Given the description of an element on the screen output the (x, y) to click on. 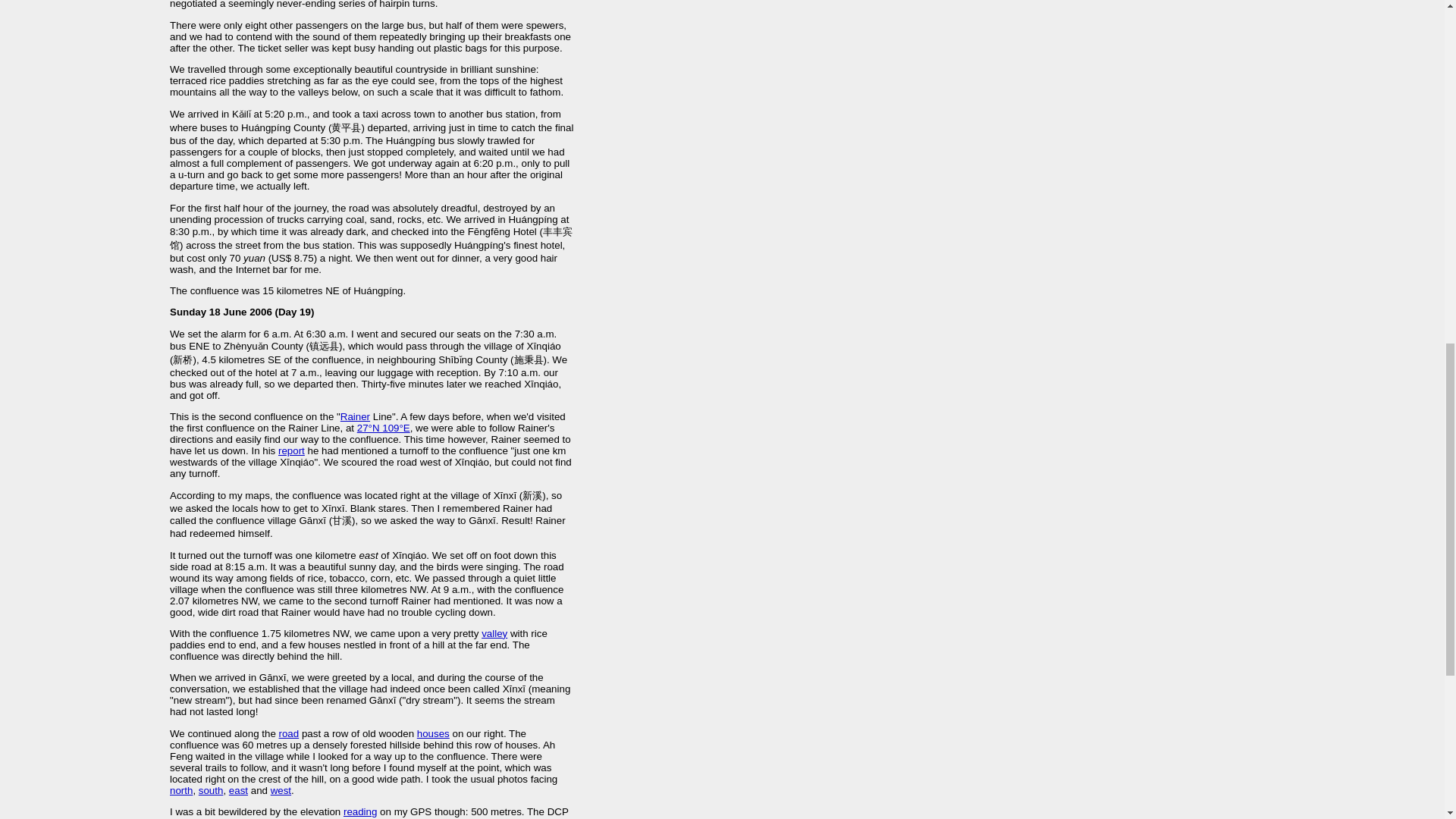
Rainer (354, 416)
